Given the description of an element on the screen output the (x, y) to click on. 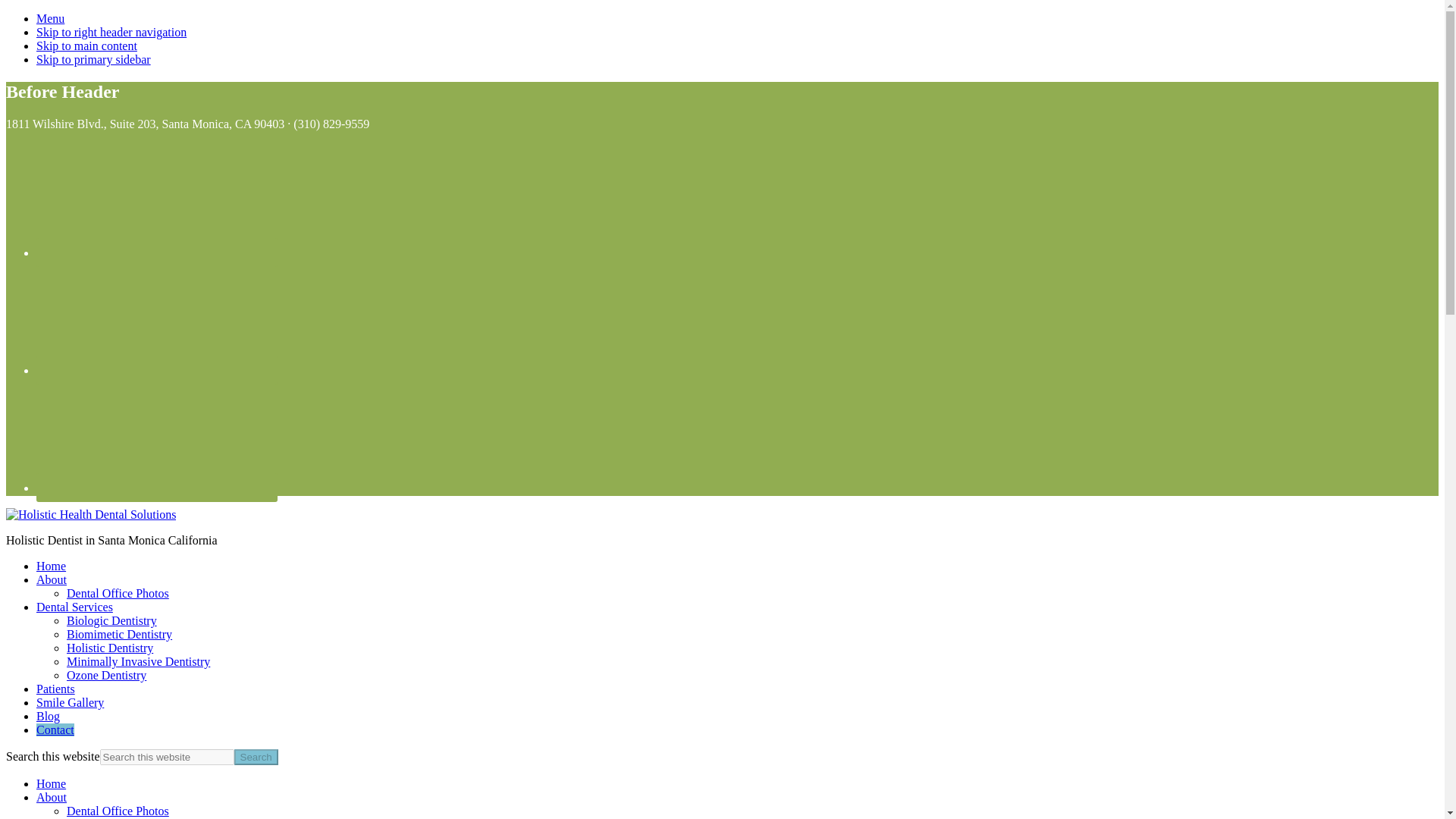
Search (256, 756)
Yelp icon (157, 487)
Home (50, 565)
Home (50, 783)
Yelp icon (156, 435)
Holistic Dentistry (109, 647)
Search (256, 756)
Ozone Dentistry (106, 675)
Blog (47, 716)
